Given the description of an element on the screen output the (x, y) to click on. 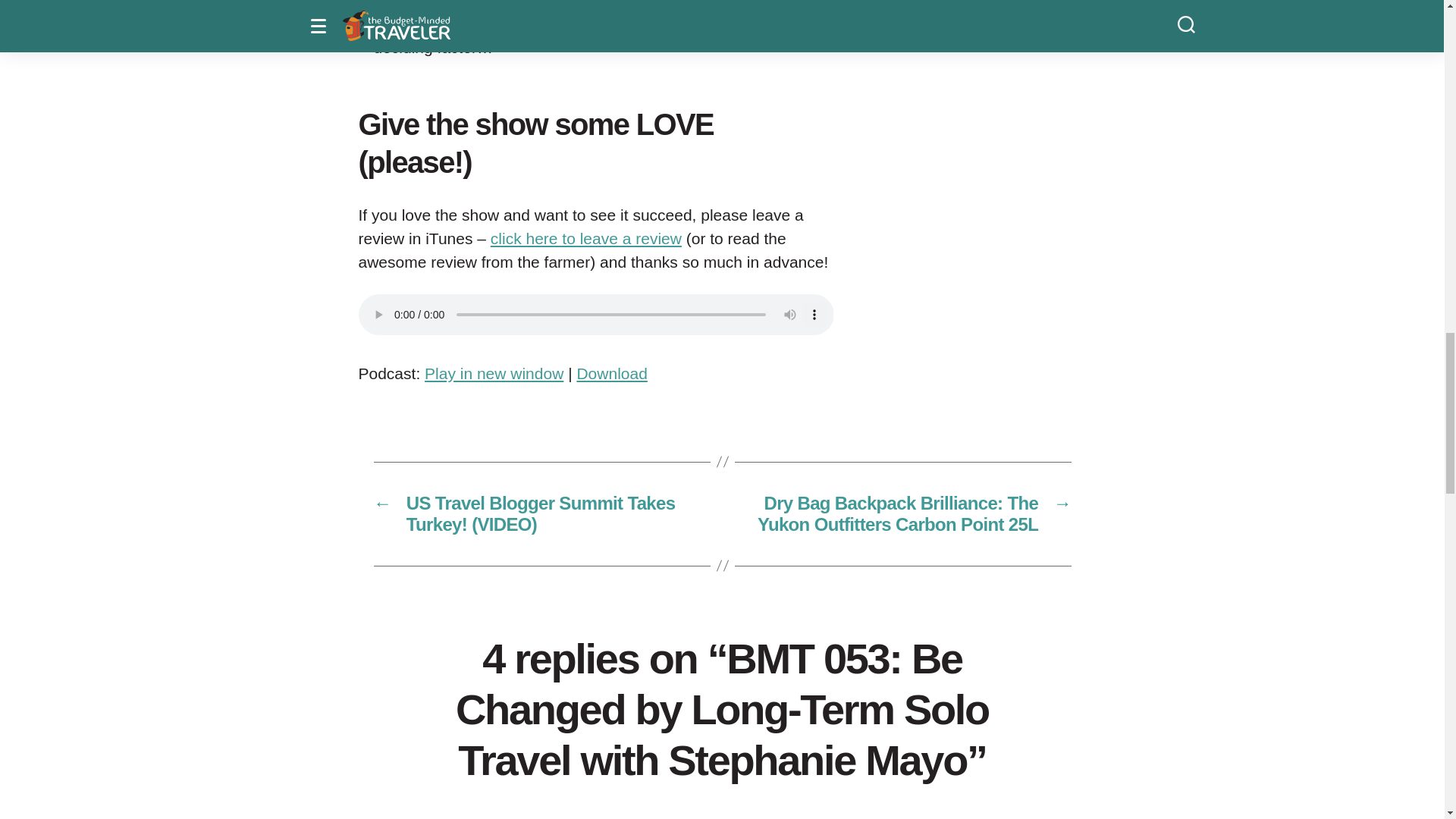
Play in new window (494, 373)
Download (611, 373)
Download (611, 373)
click here to leave a review (585, 238)
Play in new window (494, 373)
